Given the description of an element on the screen output the (x, y) to click on. 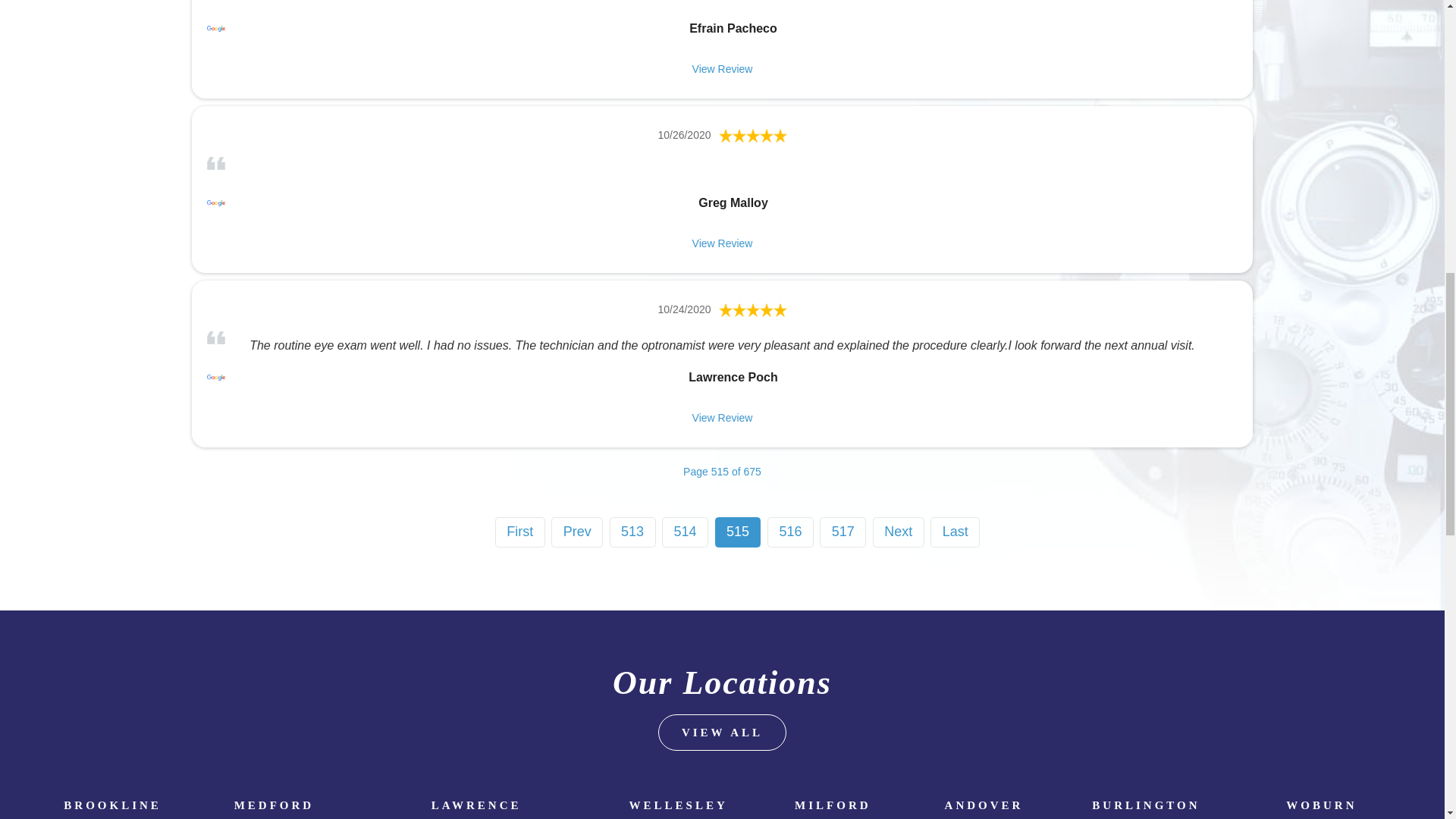
5 (753, 309)
5 (753, 135)
Google Business Profile (215, 203)
Google Business Profile (215, 377)
Google Business Profile (215, 28)
